Given the description of an element on the screen output the (x, y) to click on. 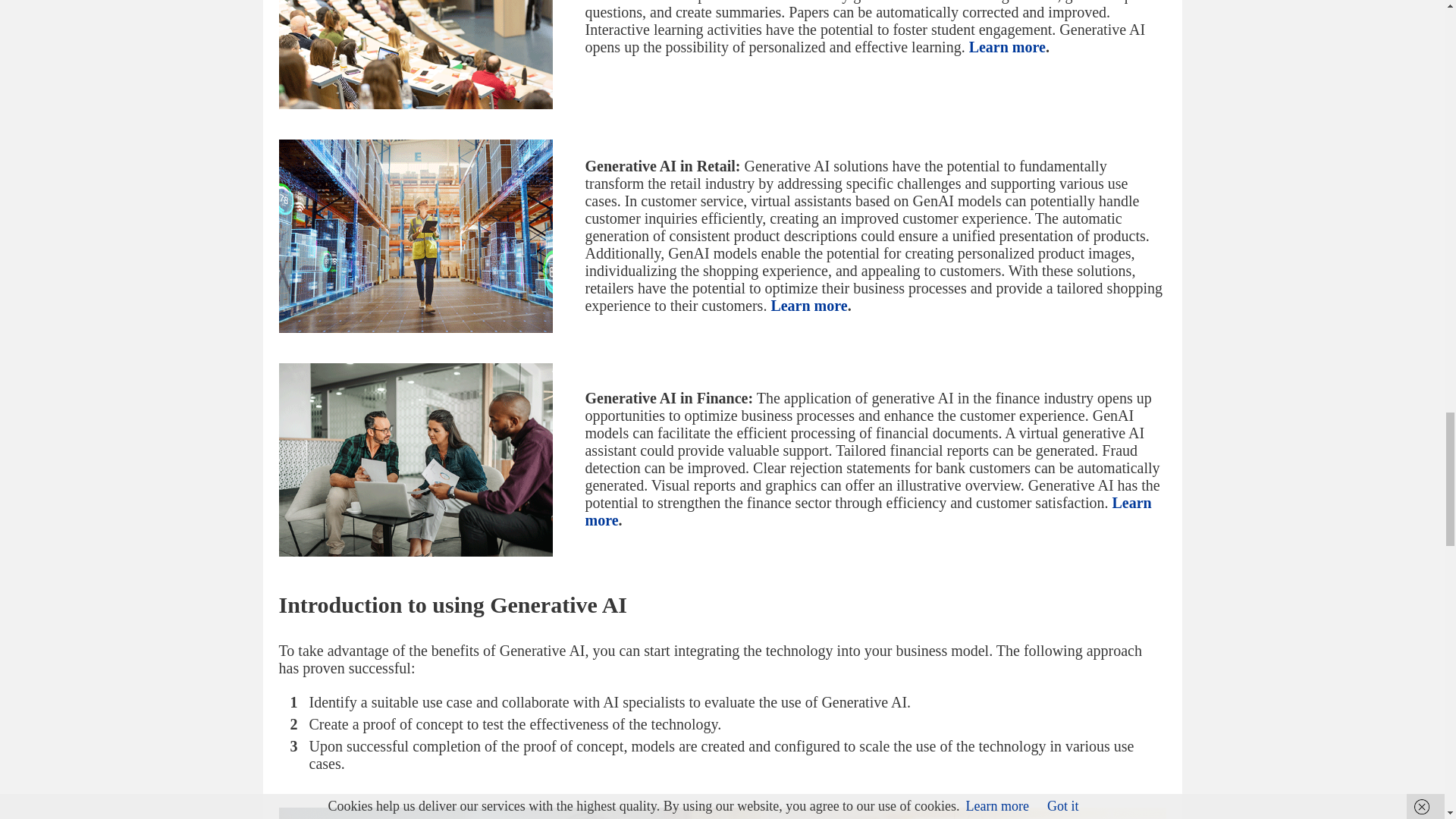
Learn more (808, 305)
Learn more (868, 511)
Learn more (1007, 46)
